Given the description of an element on the screen output the (x, y) to click on. 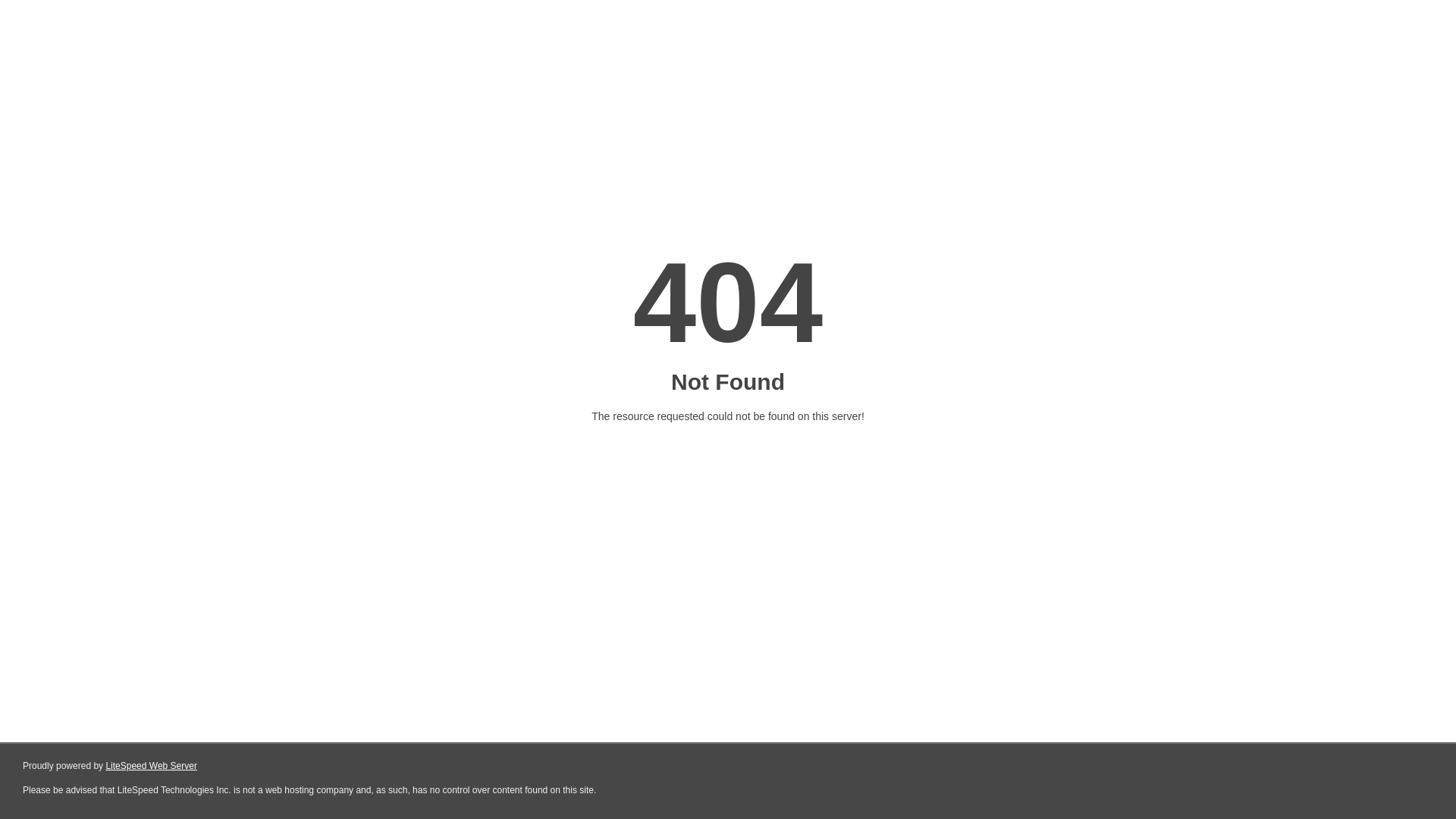
LiteSpeed Web Server (150, 765)
